Given the description of an element on the screen output the (x, y) to click on. 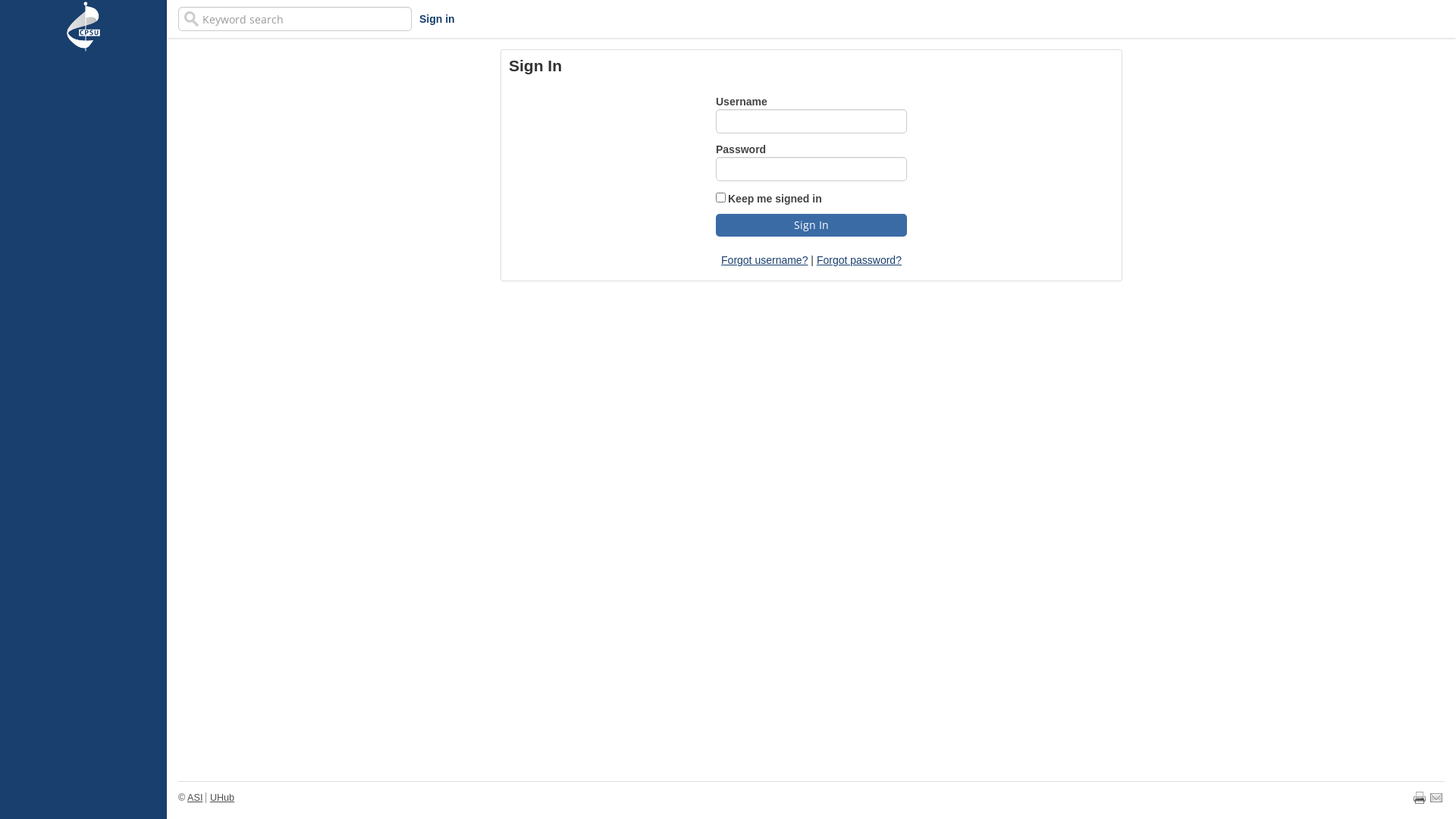
Print page Element type: text (1419, 797)
Forgot username? Element type: text (764, 260)
iMIS Element type: text (83, 26)
Sign In Element type: text (810, 224)
Sign in Element type: text (436, 18)
UHub Element type: text (221, 797)
Email page Element type: text (1436, 797)
Forgot password? Element type: text (858, 260)
ASI Element type: text (194, 797)
Go Element type: text (14, 11)
